Given the description of an element on the screen output the (x, y) to click on. 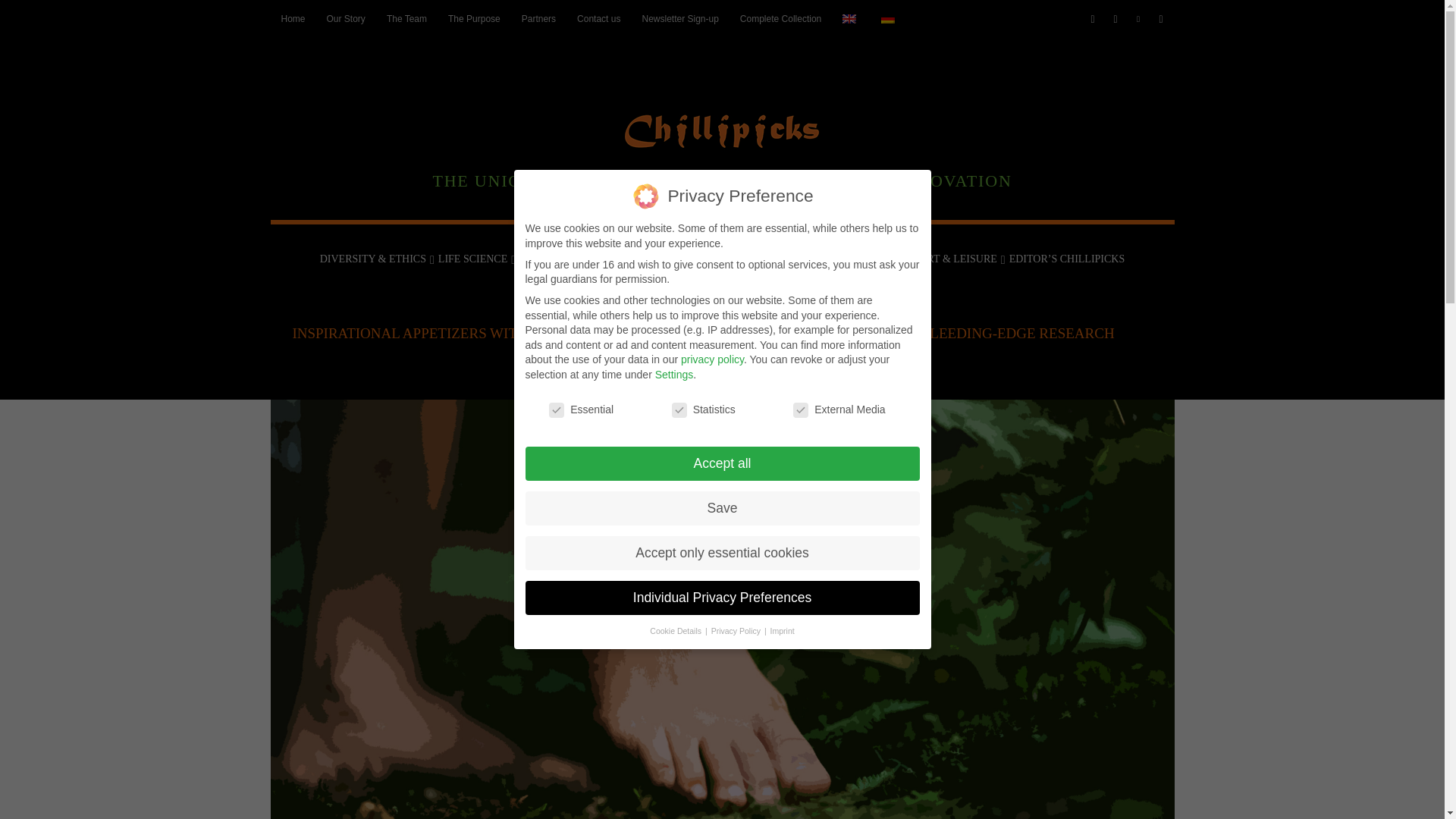
THE UNIQUE KNOWLEDGE BASE ON IMPACTFUL INNOVATION (721, 143)
Complete Collection (780, 18)
The Team (406, 18)
Contact us (598, 18)
Facebook (1093, 18)
Instagram (1115, 18)
Home (292, 18)
Twitter (1161, 18)
Our Story (345, 18)
Partners (538, 18)
Linkedin (1138, 18)
The Purpose (474, 18)
Newsletter Sign-up (679, 18)
